Given the description of an element on the screen output the (x, y) to click on. 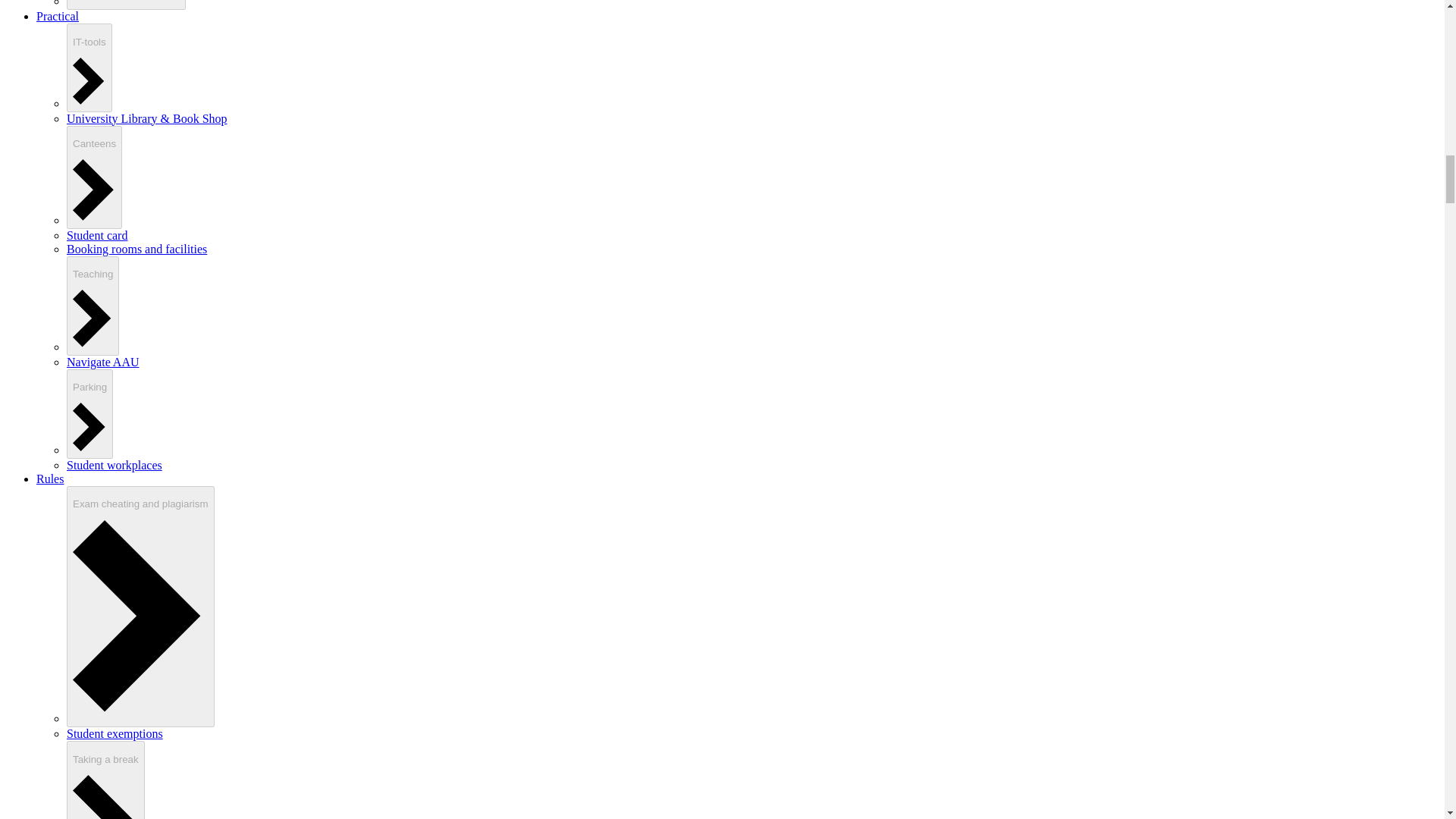
Taking a break (105, 780)
Rules (50, 478)
Student exemptions (114, 733)
Booking rooms and facilities (136, 248)
Rules (50, 478)
Student workplaces (113, 464)
Navigate AAU (102, 360)
Student exemptions (114, 733)
Get a good start at AAU (126, 5)
Practical (57, 15)
